Given the description of an element on the screen output the (x, y) to click on. 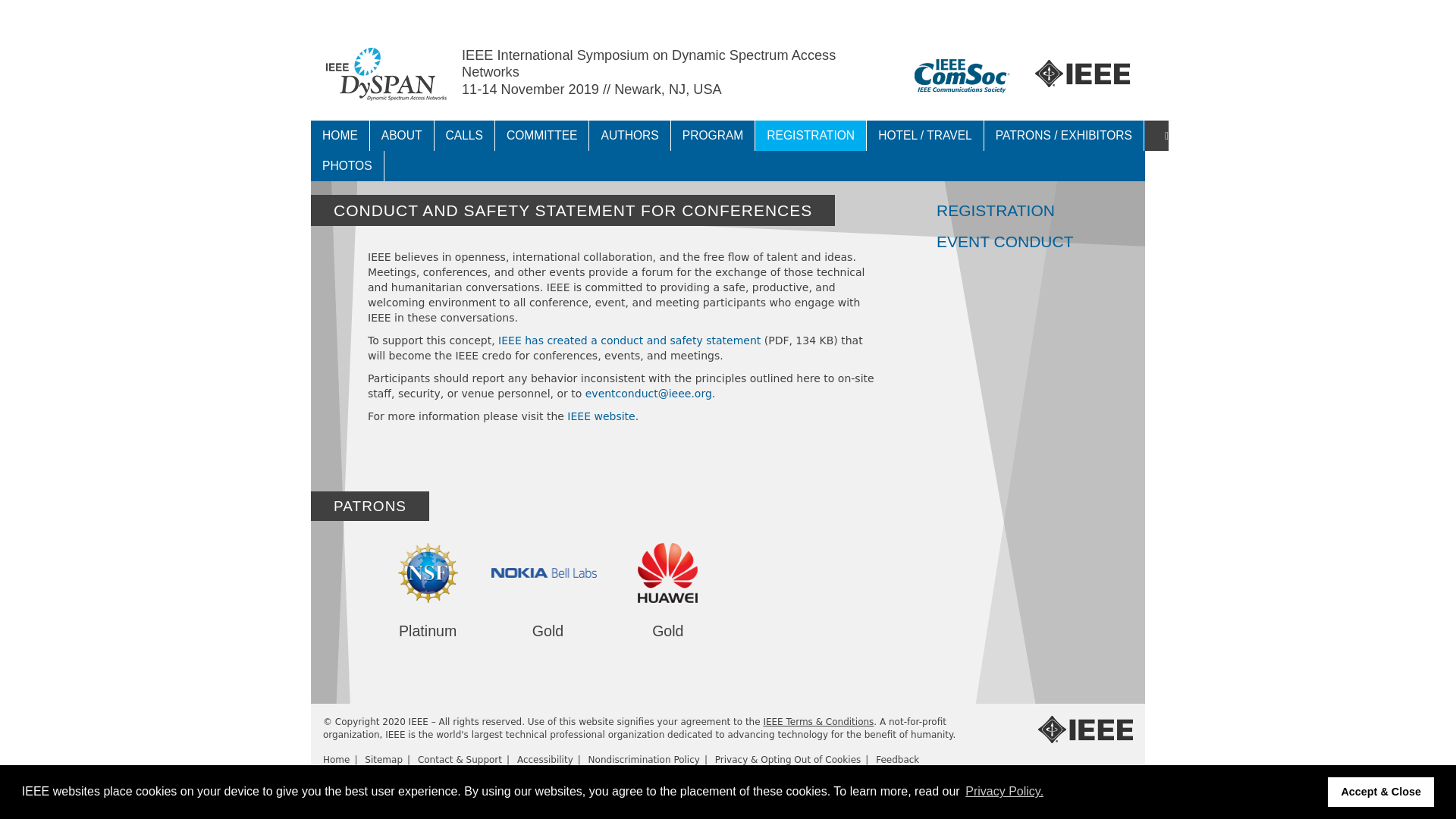
IEEE Standards (536, 13)
IEEE.org (333, 13)
HOME (340, 135)
Home (386, 73)
CALLS (464, 135)
ABOUT (401, 135)
PROGRAM (713, 135)
AUTHORS (629, 135)
IEEE Xplore Digital Library (427, 13)
COMMITTEE (542, 135)
REGISTRATION (810, 135)
IEEE Spectrum Online (635, 13)
More IEEE Sites (731, 13)
